Given the description of an element on the screen output the (x, y) to click on. 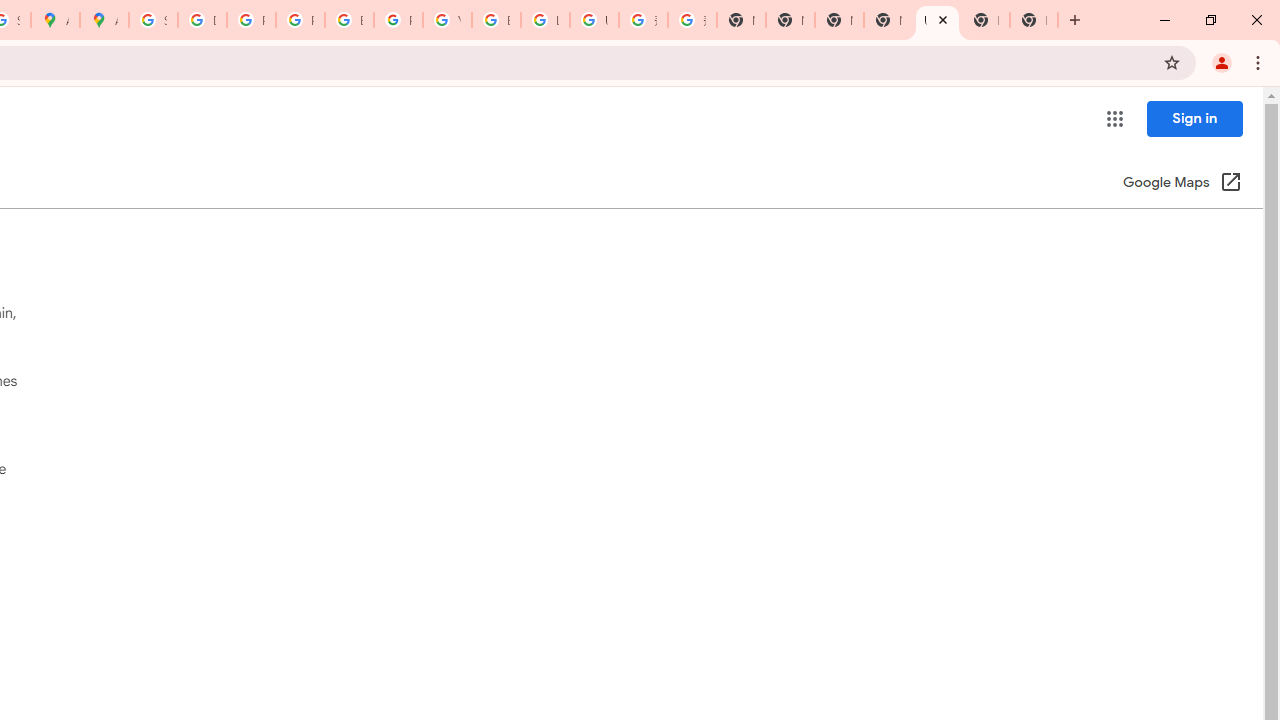
Privacy Help Center - Policies Help (251, 20)
Use Google Maps in Space - Google Maps Help (937, 20)
New Tab (888, 20)
YouTube (447, 20)
Sign in - Google Accounts (153, 20)
